Given the description of an element on the screen output the (x, y) to click on. 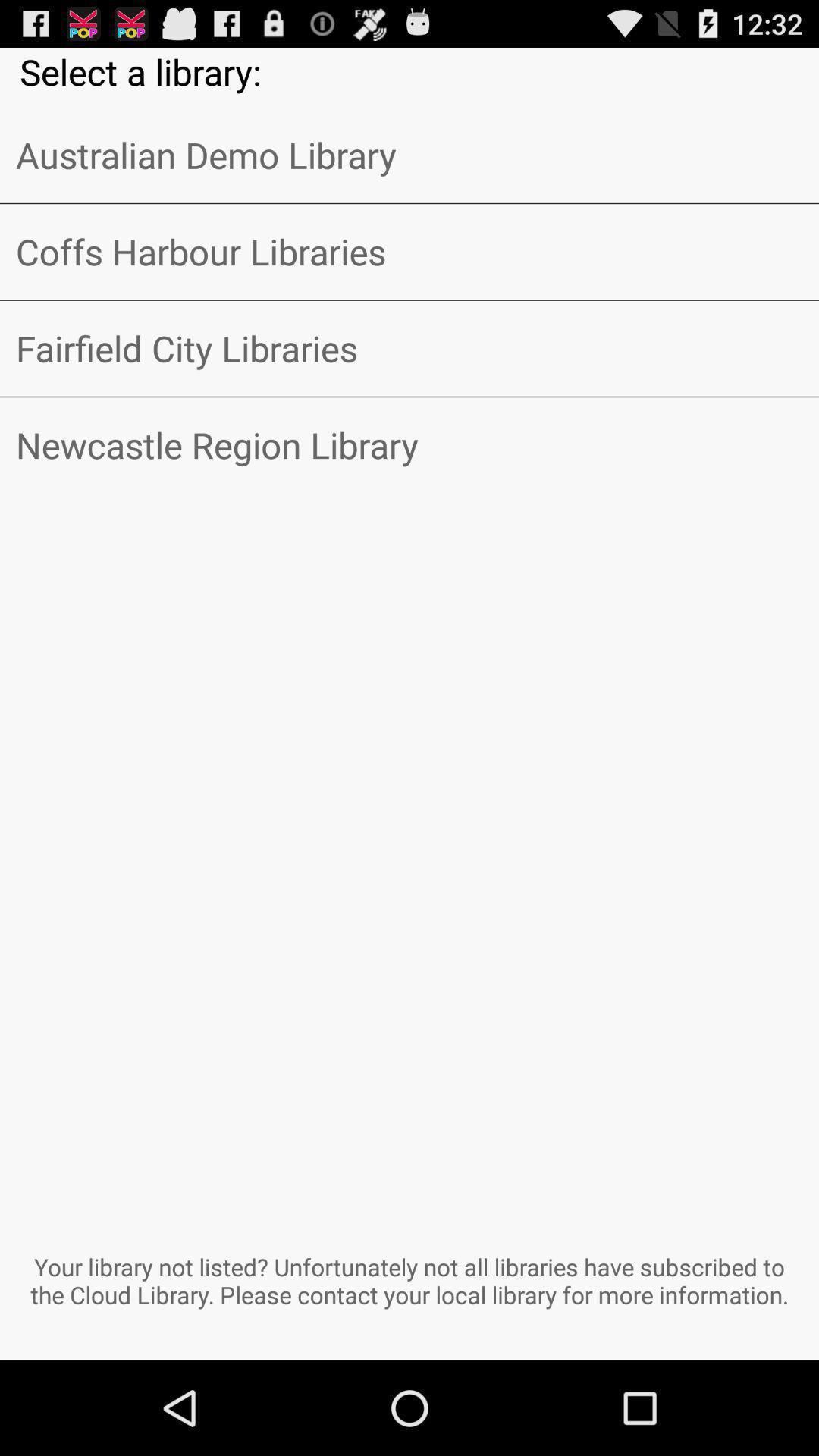
jump until the australian demo library item (409, 155)
